Given the description of an element on the screen output the (x, y) to click on. 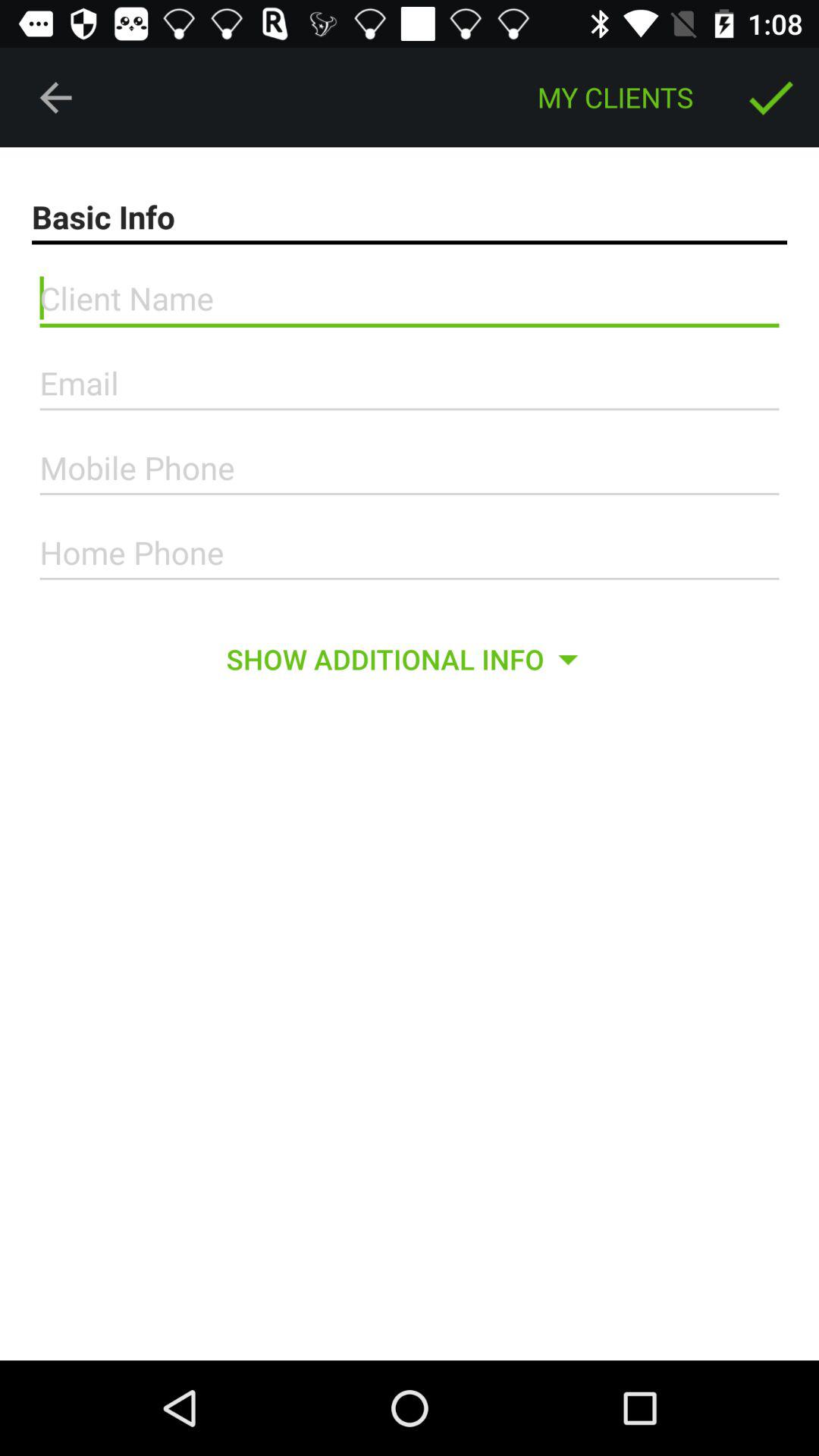
enter email address (409, 383)
